Given the description of an element on the screen output the (x, y) to click on. 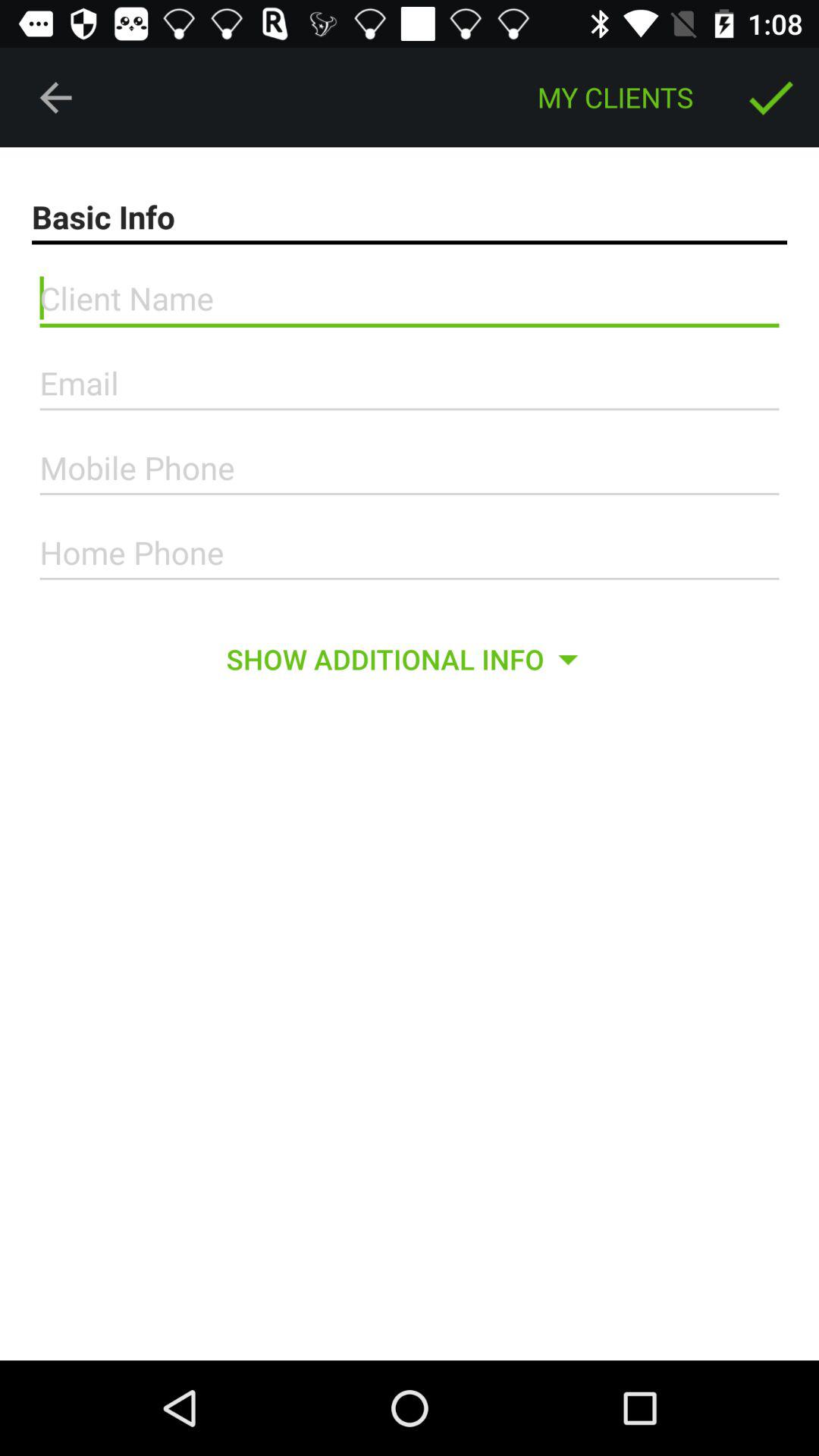
enter email address (409, 383)
